Given the description of an element on the screen output the (x, y) to click on. 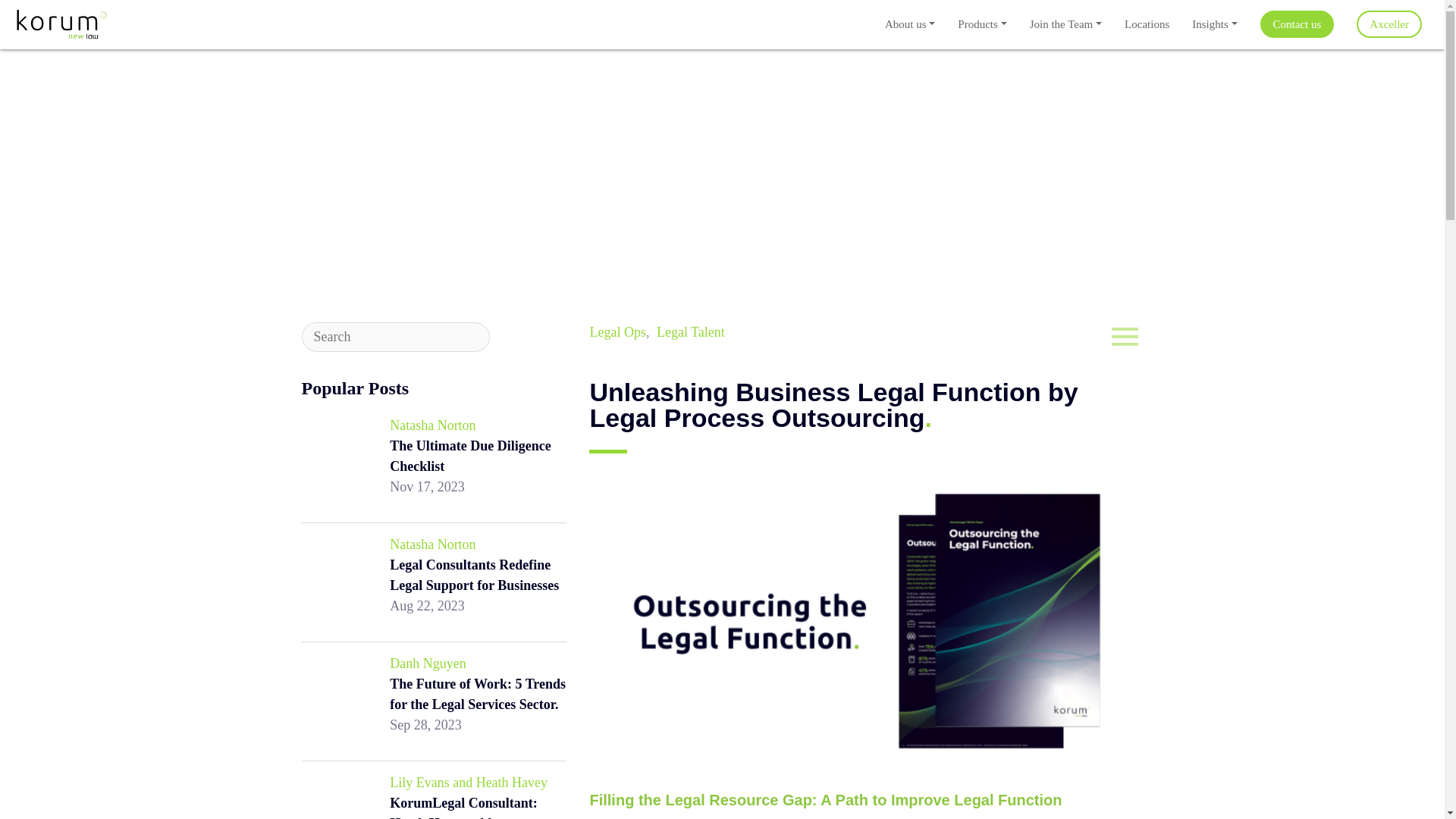
Join the Team (1065, 24)
Products (981, 24)
Page 2 (865, 803)
Insights (1213, 24)
About us (909, 24)
Legal Talent (690, 331)
The Ultimate Due Diligence Checklist (470, 456)
Locations (1146, 24)
Axceller (1388, 24)
